Given the description of an element on the screen output the (x, y) to click on. 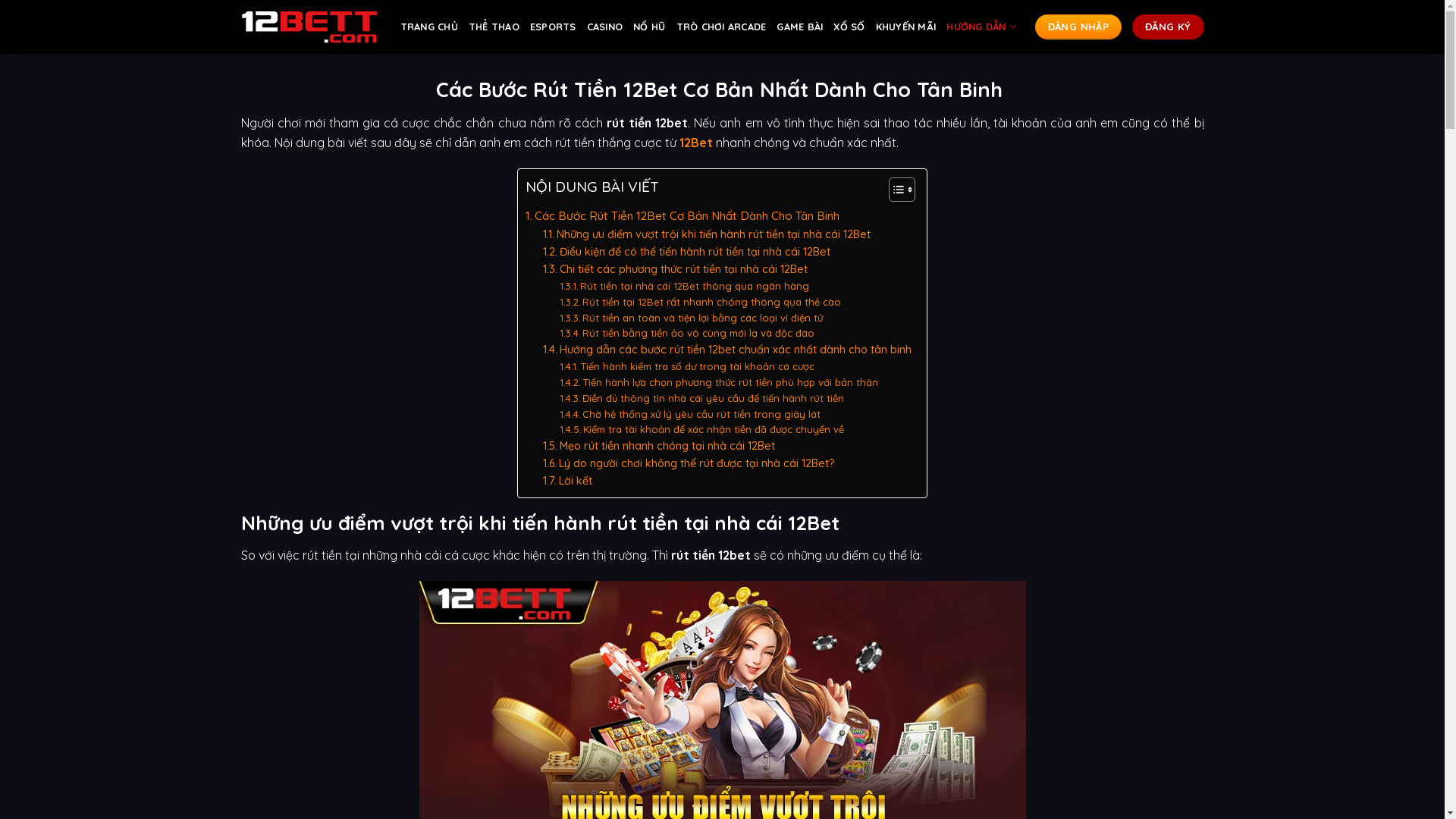
ESPORTS Element type: text (553, 26)
12Bet Element type: text (695, 142)
CASINO Element type: text (604, 26)
